Given the description of an element on the screen output the (x, y) to click on. 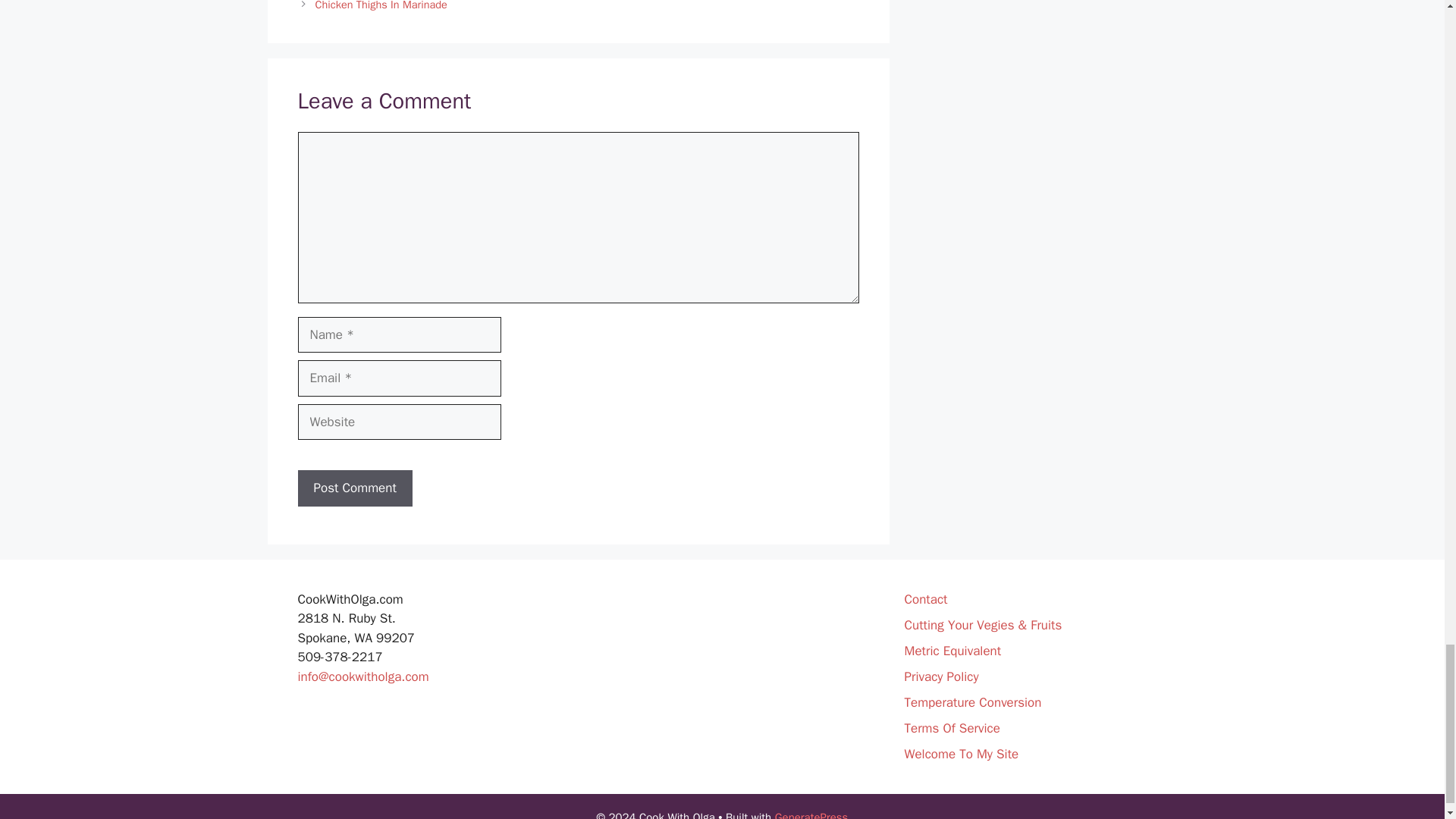
Post Comment (354, 488)
Post Comment (354, 488)
Chicken Thighs In Marinade (380, 5)
